Given the description of an element on the screen output the (x, y) to click on. 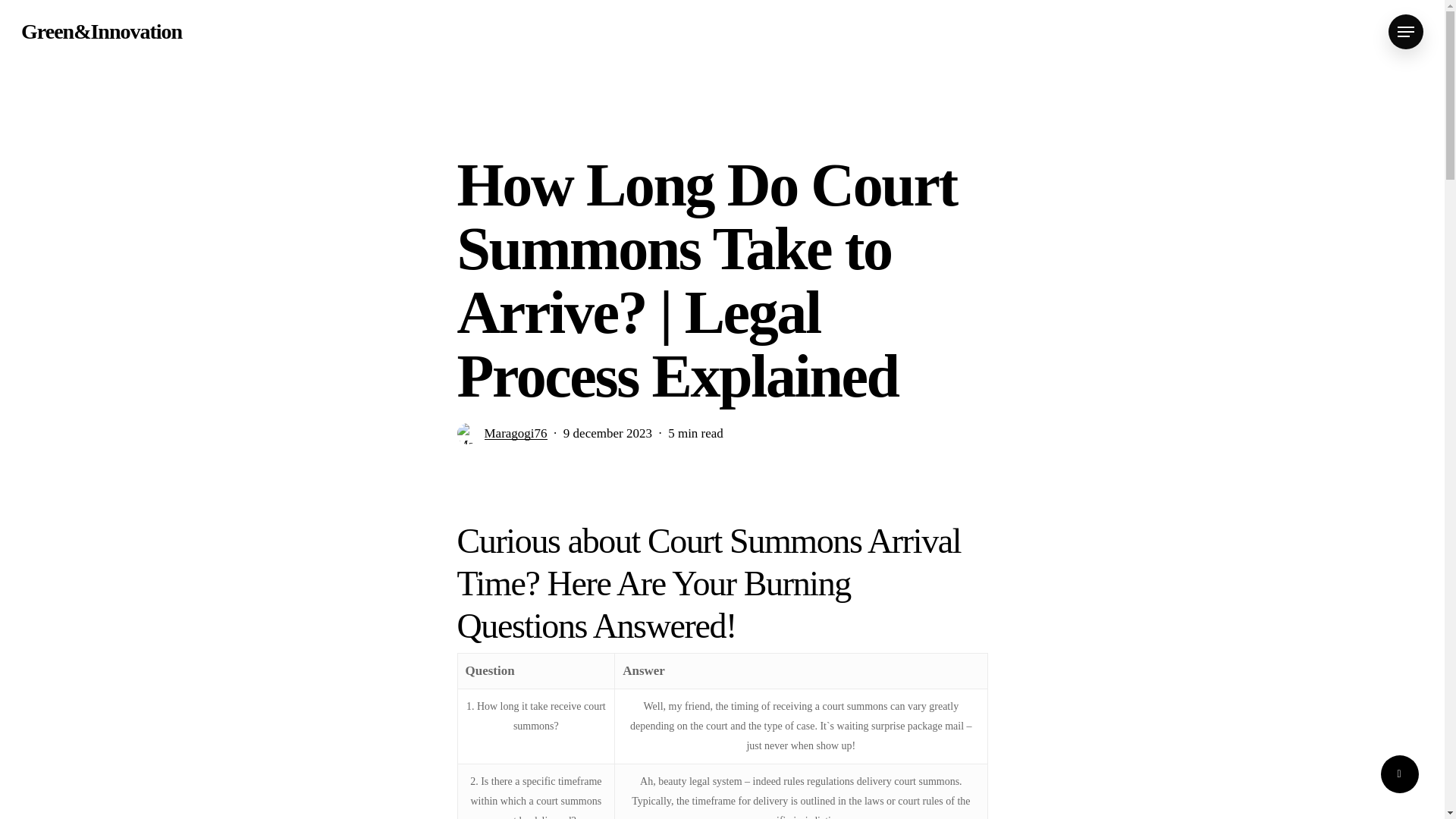
Menu (1406, 32)
Berichten van Maragogi76 (515, 441)
